Given the description of an element on the screen output the (x, y) to click on. 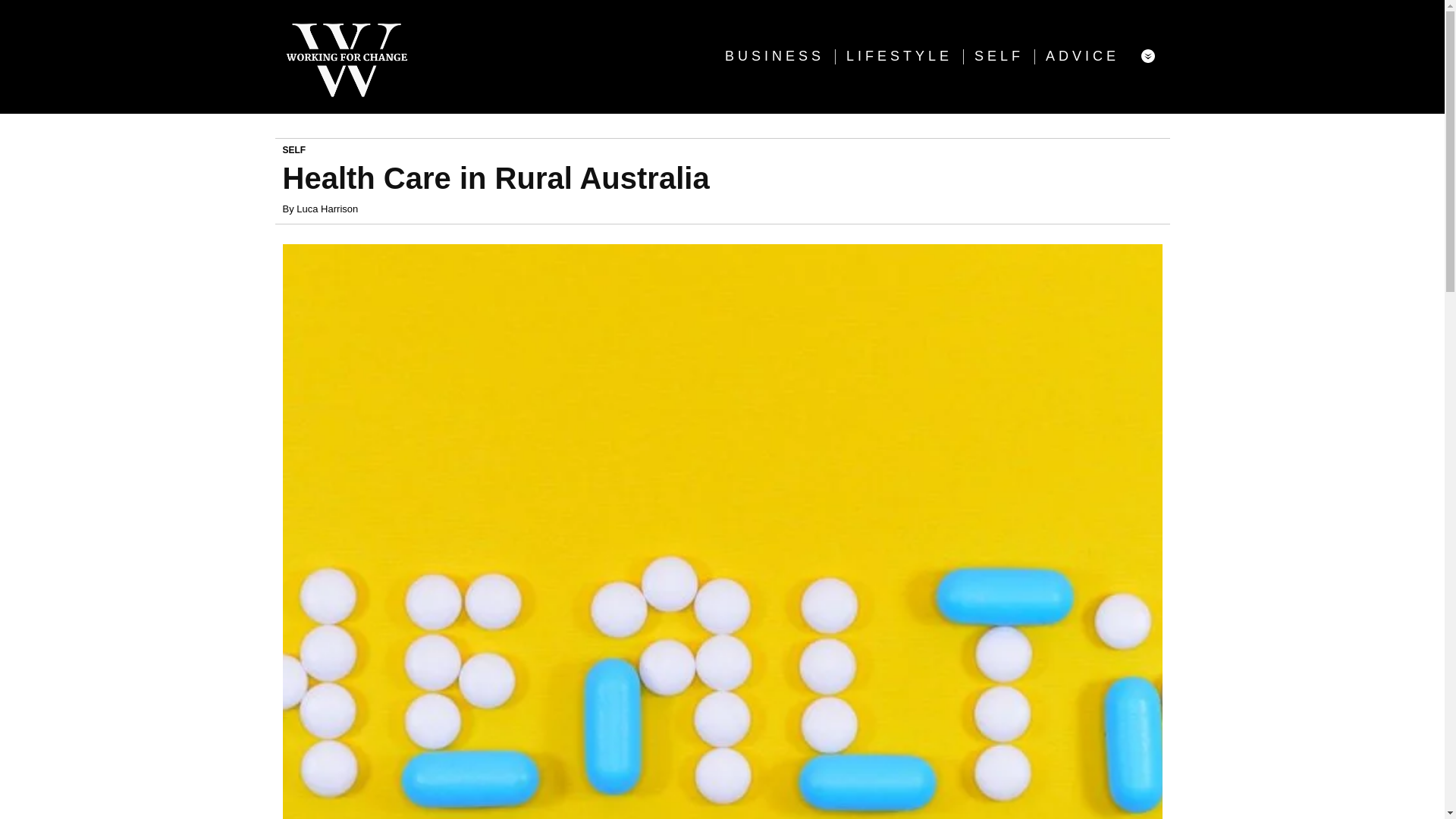
SELF (293, 149)
BUSINESS (774, 56)
By Luca Harrison (320, 209)
ADVICE (1082, 56)
SELF (998, 56)
LIFESTYLE (899, 56)
